Given the description of an element on the screen output the (x, y) to click on. 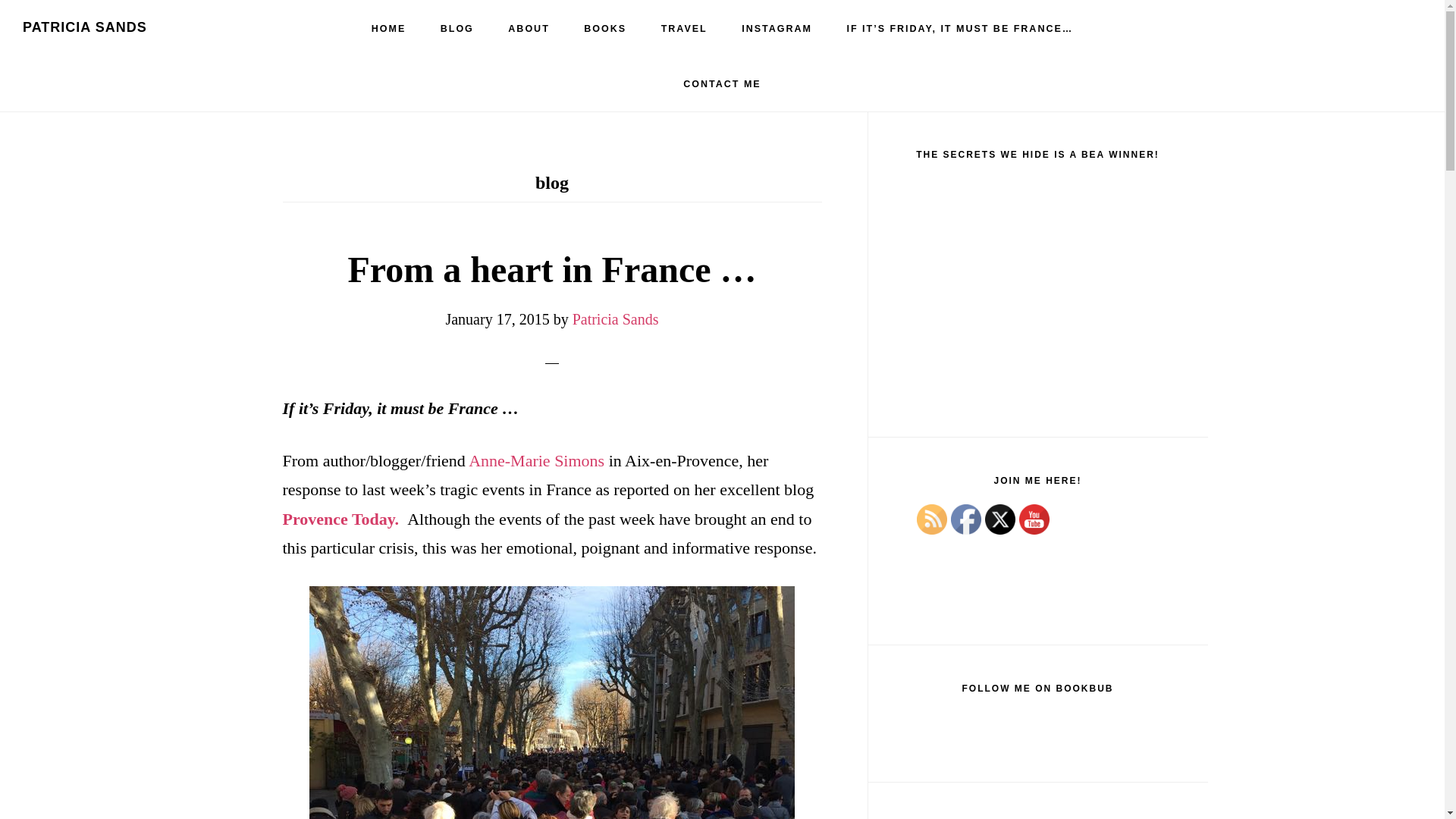
TRAVEL (684, 28)
BLOG (457, 28)
HOME (389, 28)
PATRICIA SANDS (85, 27)
Provence Today. (340, 518)
INSTAGRAM (776, 28)
YouTube (1034, 511)
Anne-Marie Simons (536, 460)
Patricia Sands (615, 319)
BOOKS (605, 28)
ABOUT (528, 28)
CONTACT ME (722, 83)
